Given the description of an element on the screen output the (x, y) to click on. 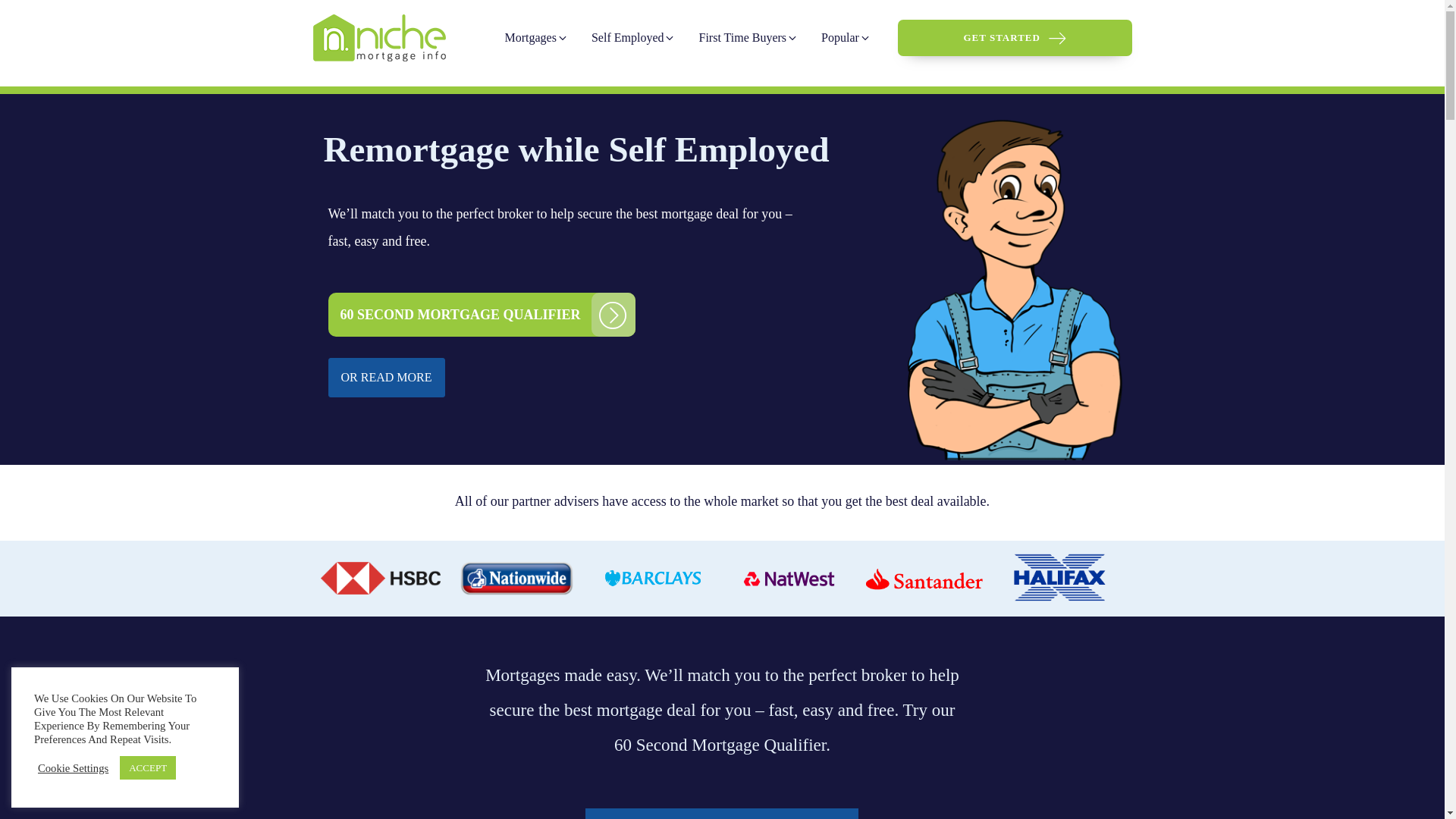
Popular (845, 37)
Self Employed (633, 37)
First Time Buyers (748, 37)
Mortgages (536, 37)
